Given the description of an element on the screen output the (x, y) to click on. 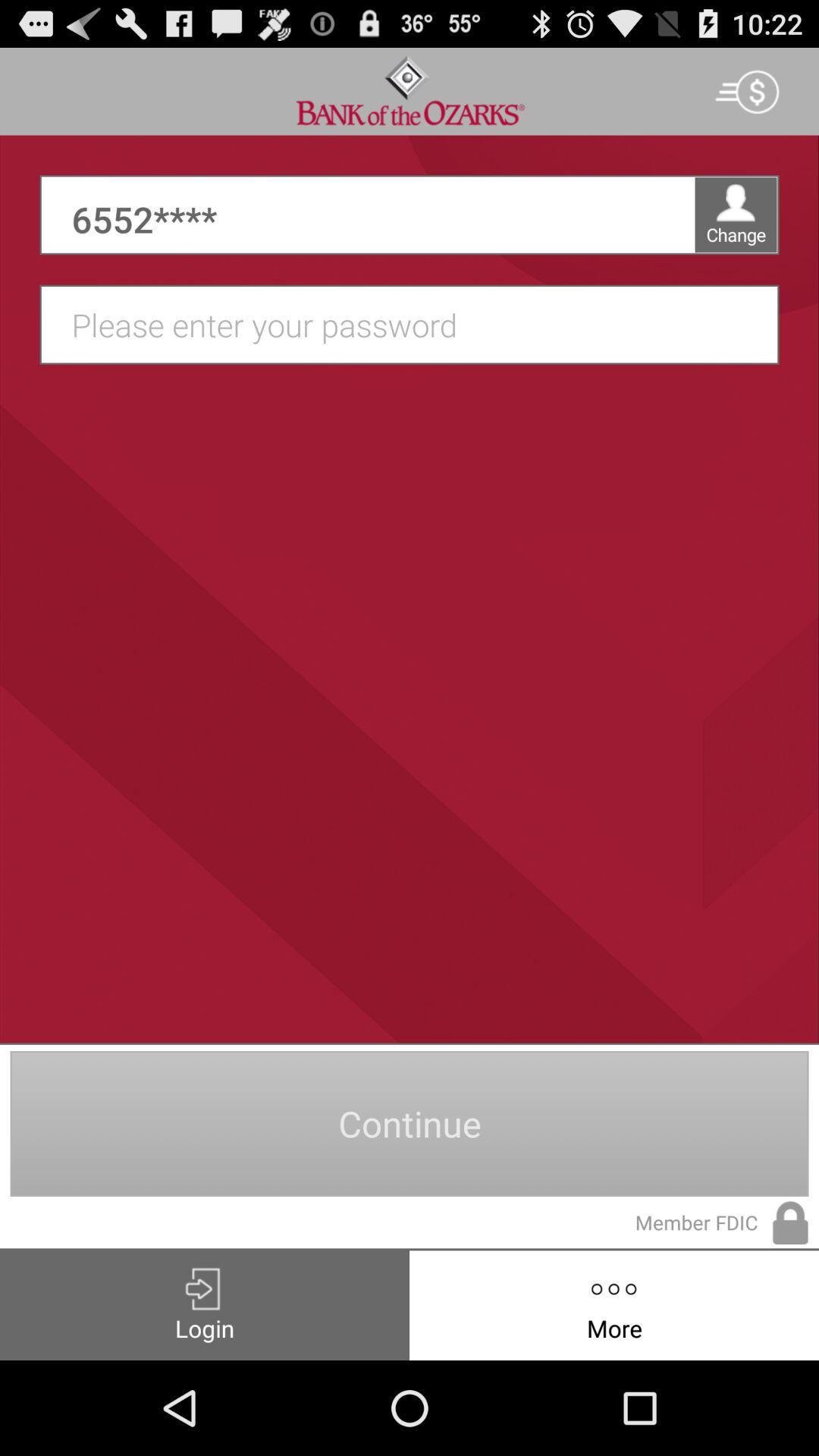
enter password (417, 324)
